Given the description of an element on the screen output the (x, y) to click on. 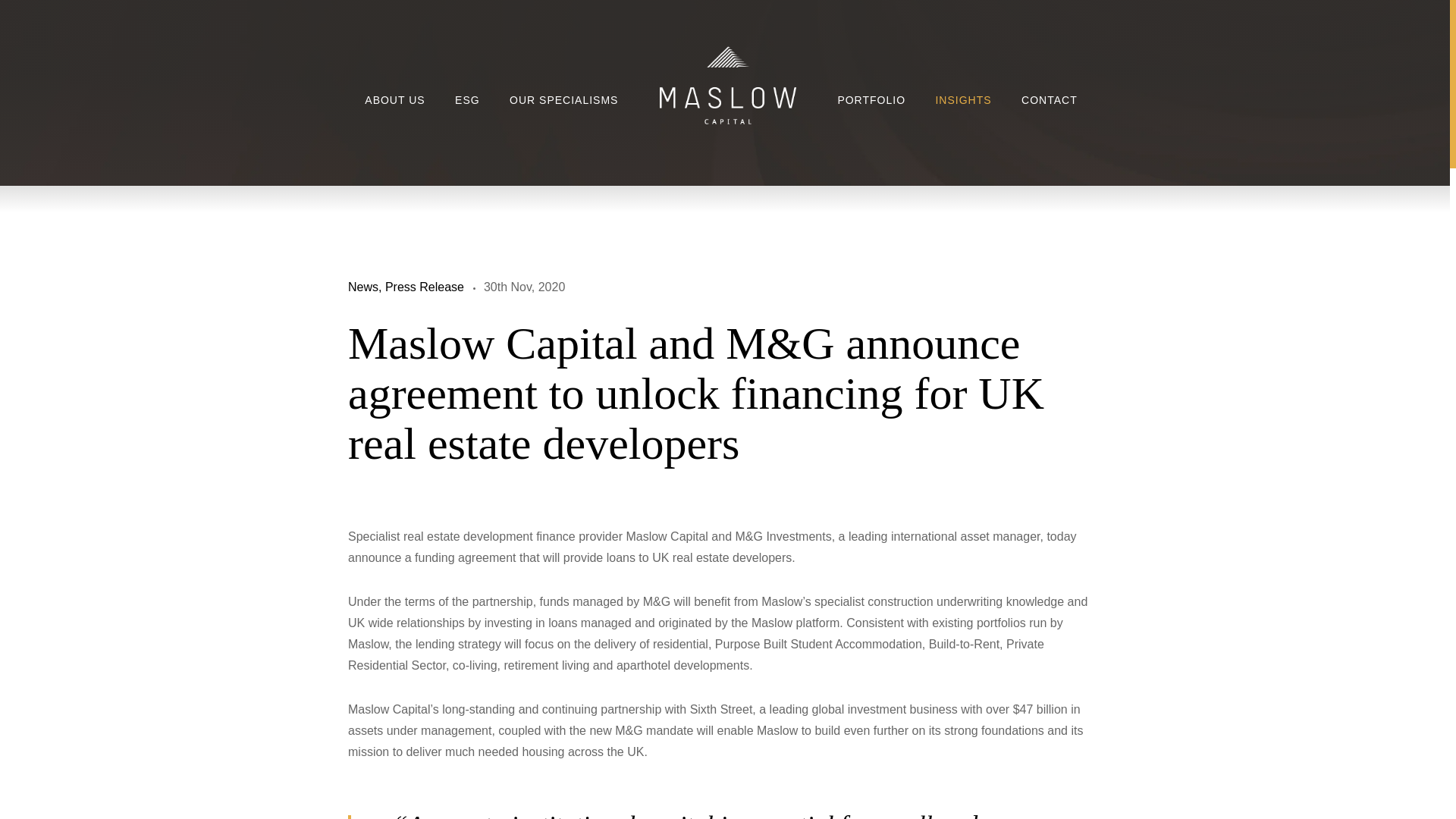
OUR SPECIALISMS (563, 100)
CONTACT (1049, 100)
ABOUT US (395, 100)
INSIGHTS (962, 100)
News, Press Release (405, 286)
PORTFOLIO (871, 100)
